Given the description of an element on the screen output the (x, y) to click on. 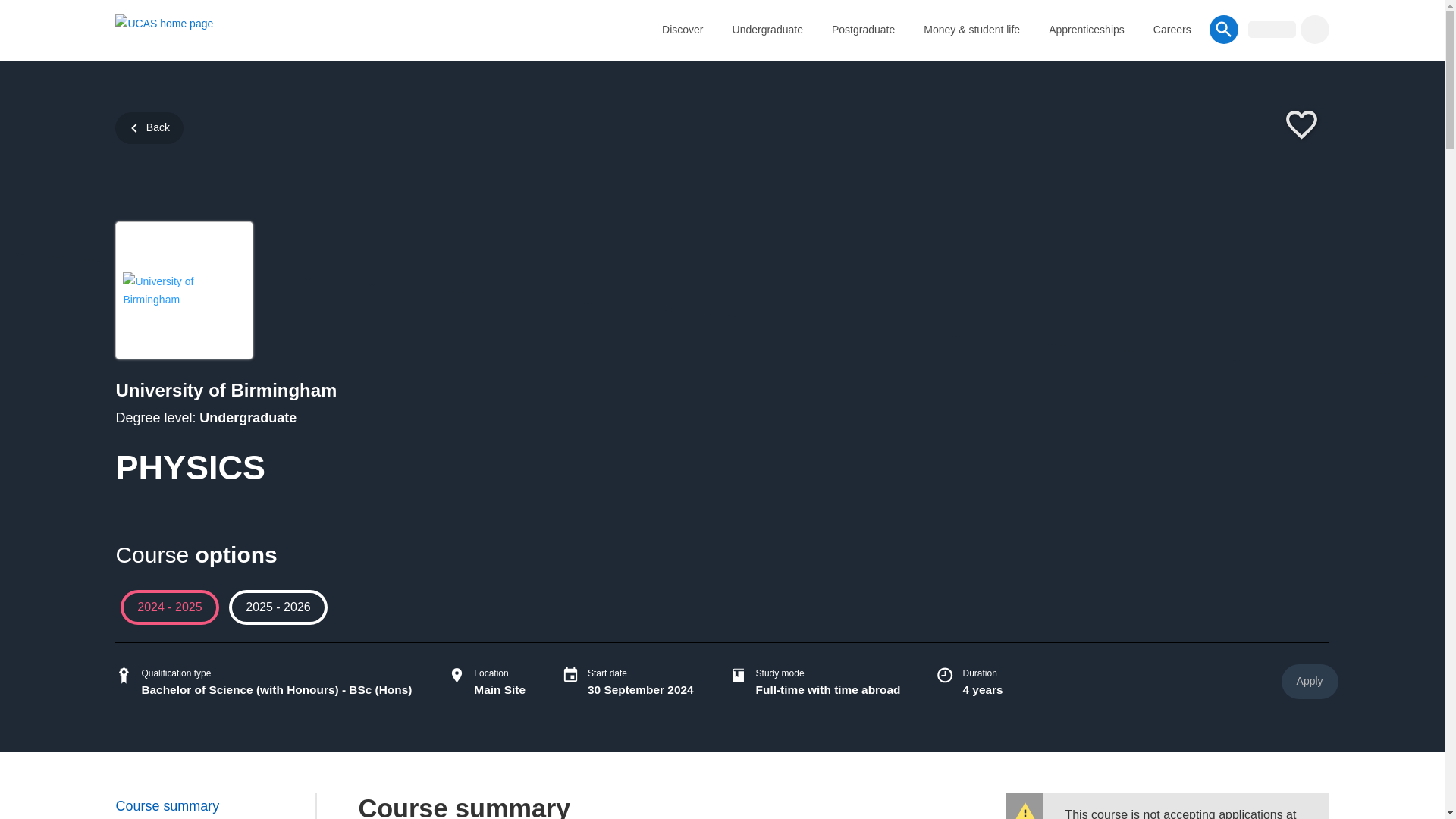
Add option to favourites (1301, 125)
Discover (682, 29)
Undergraduate (767, 29)
Back to previous page (149, 128)
